Given the description of an element on the screen output the (x, y) to click on. 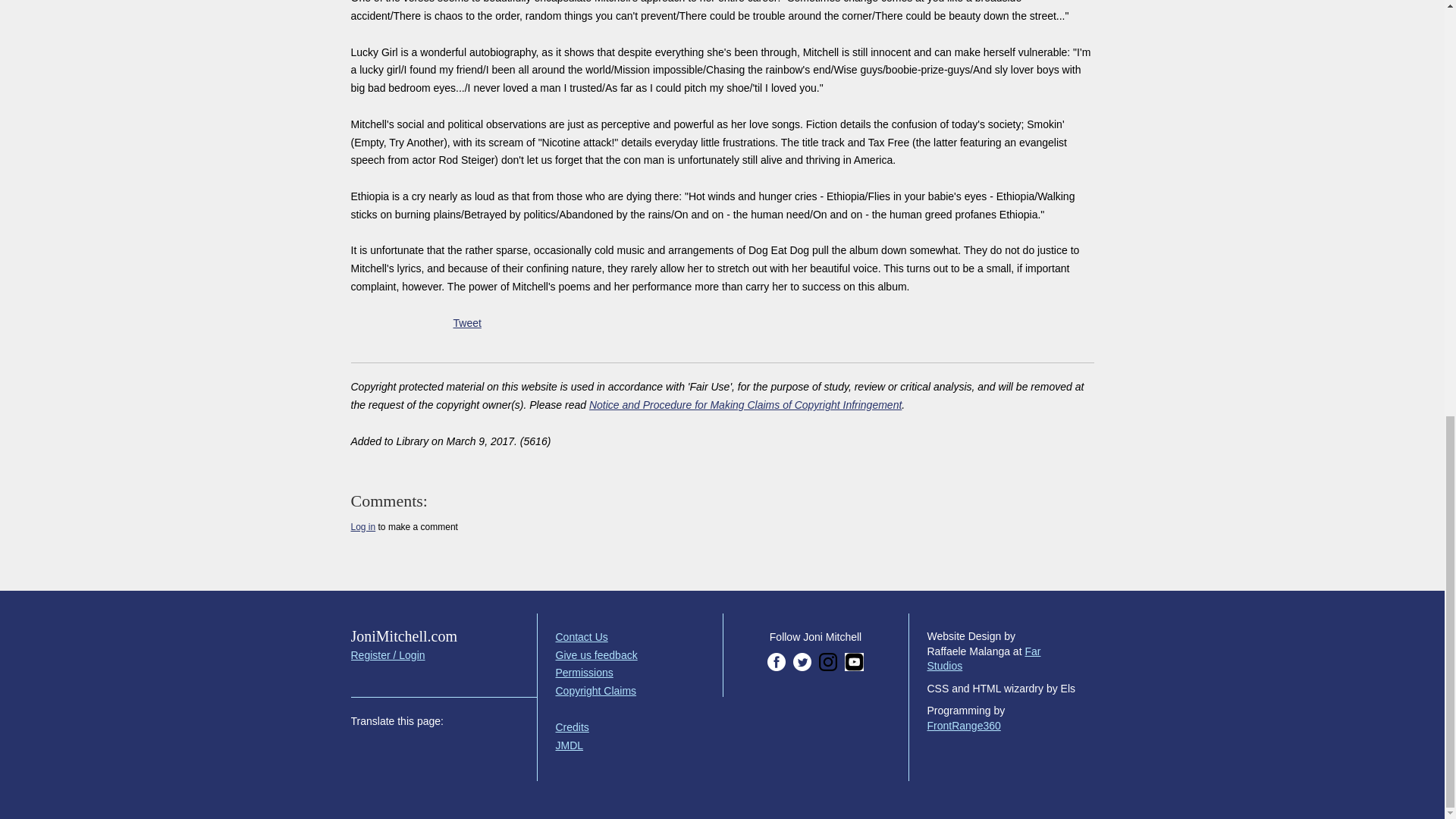
Copyright Claims (595, 690)
Tweet (466, 322)
Permissions (583, 672)
Contact Us (580, 636)
JMDL (568, 745)
Give us feedback (595, 654)
Log in (362, 526)
Far Studios (983, 658)
Credits (571, 727)
FrontRange360 (963, 725)
